Given the description of an element on the screen output the (x, y) to click on. 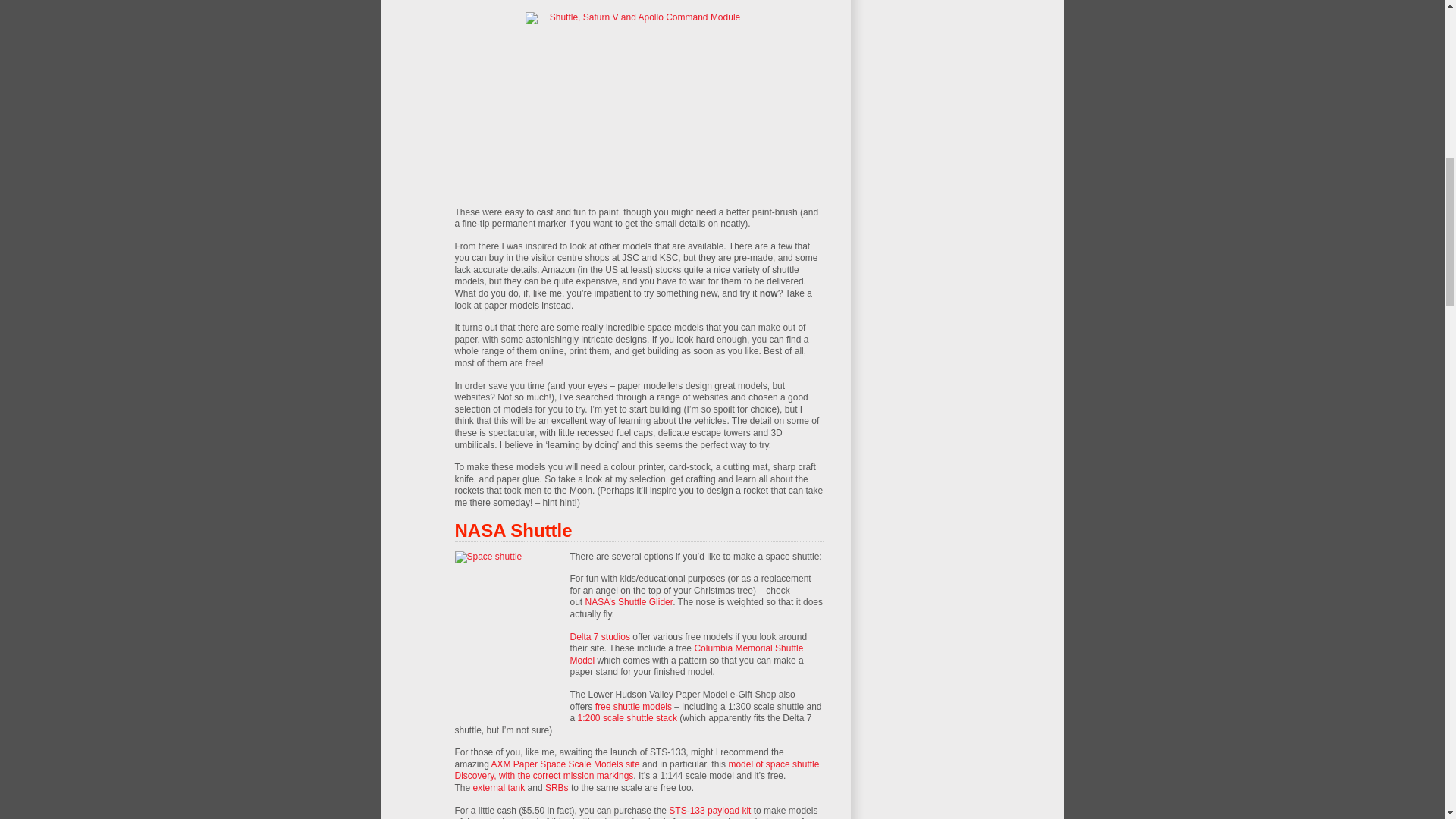
1:200 scale shuttle stack (627, 717)
Delta 7 studios (600, 636)
external tank (499, 787)
SRBs (556, 787)
Shuttle, Saturn V and Apollo Command Module (638, 92)
AXM Paper Space Scale Models site (566, 764)
STS-133 payload kit (709, 810)
free shuttle models (633, 706)
Columbia Memorial Shuttle Model (686, 653)
